Given the description of an element on the screen output the (x, y) to click on. 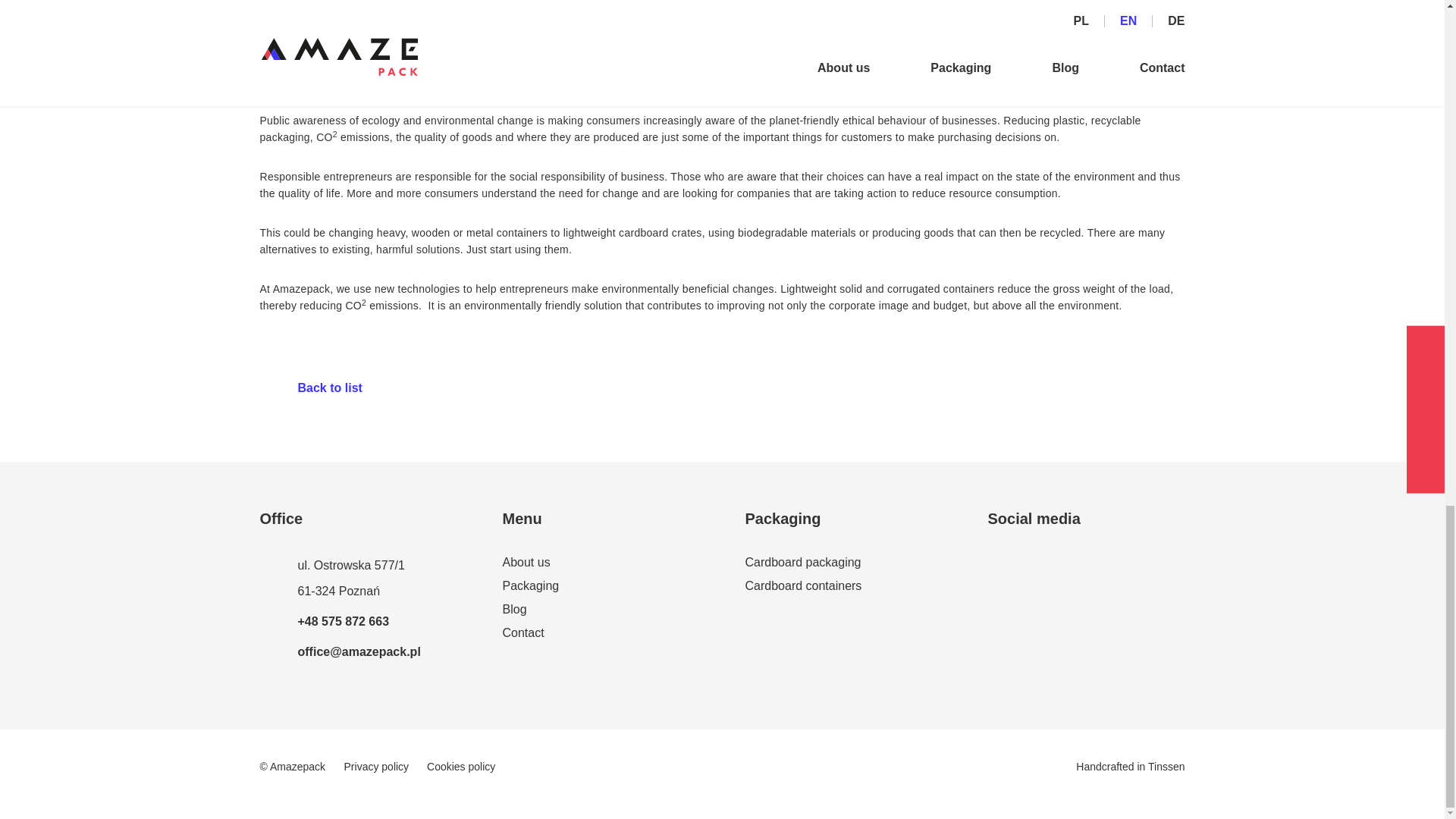
About us (600, 564)
Contact (600, 635)
Cardboard containers (843, 587)
Back to list (310, 386)
Cardboard packaging (843, 564)
Packaging (600, 587)
Branding agency (1166, 766)
Back to list (310, 386)
Blog (600, 611)
Napisz do nas (339, 650)
